Given the description of an element on the screen output the (x, y) to click on. 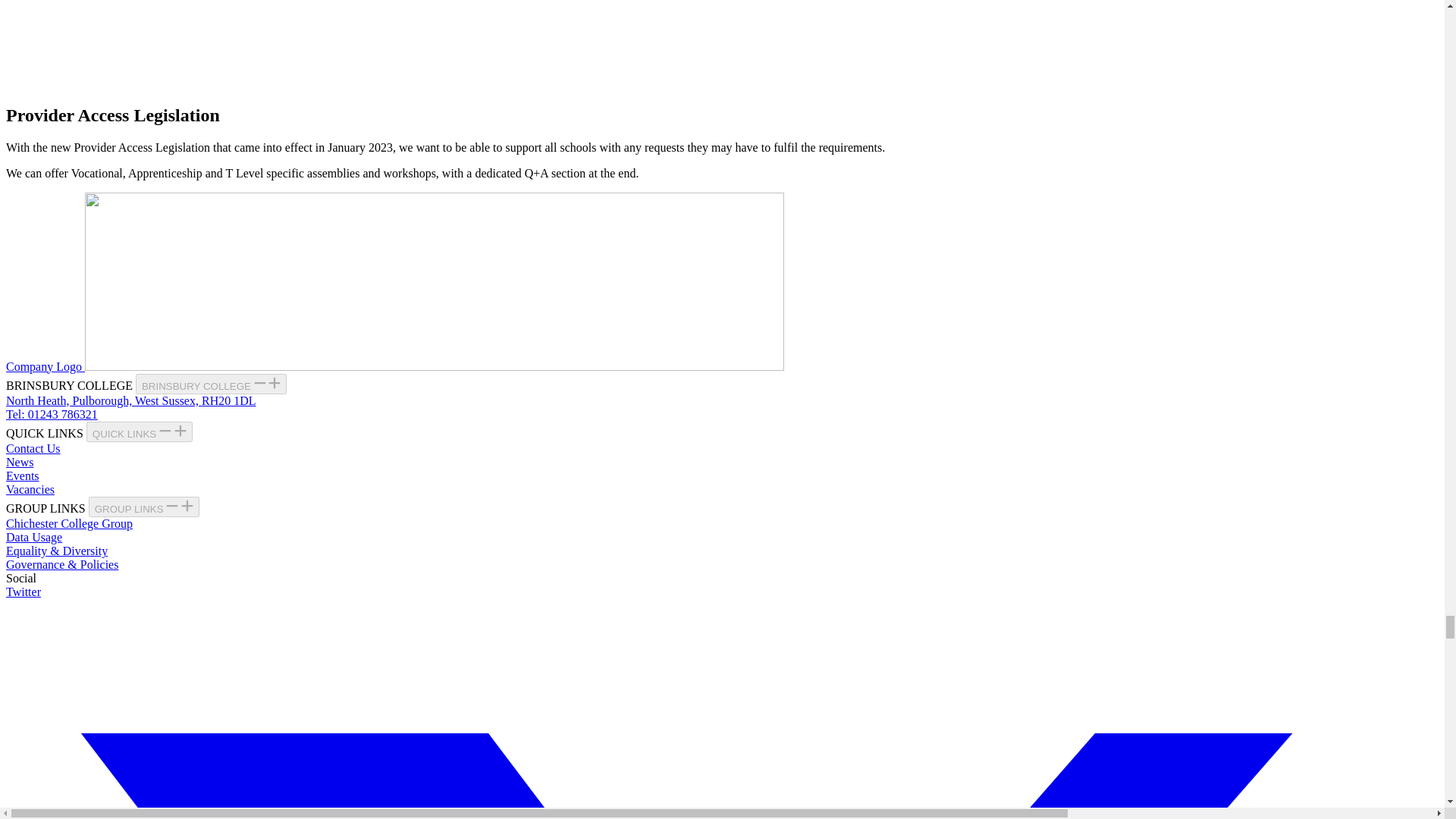
Footer navigation togle dropdown (143, 506)
Footer navigation togle dropdown (138, 431)
Footer navigation togle dropdown (210, 383)
